Given the description of an element on the screen output the (x, y) to click on. 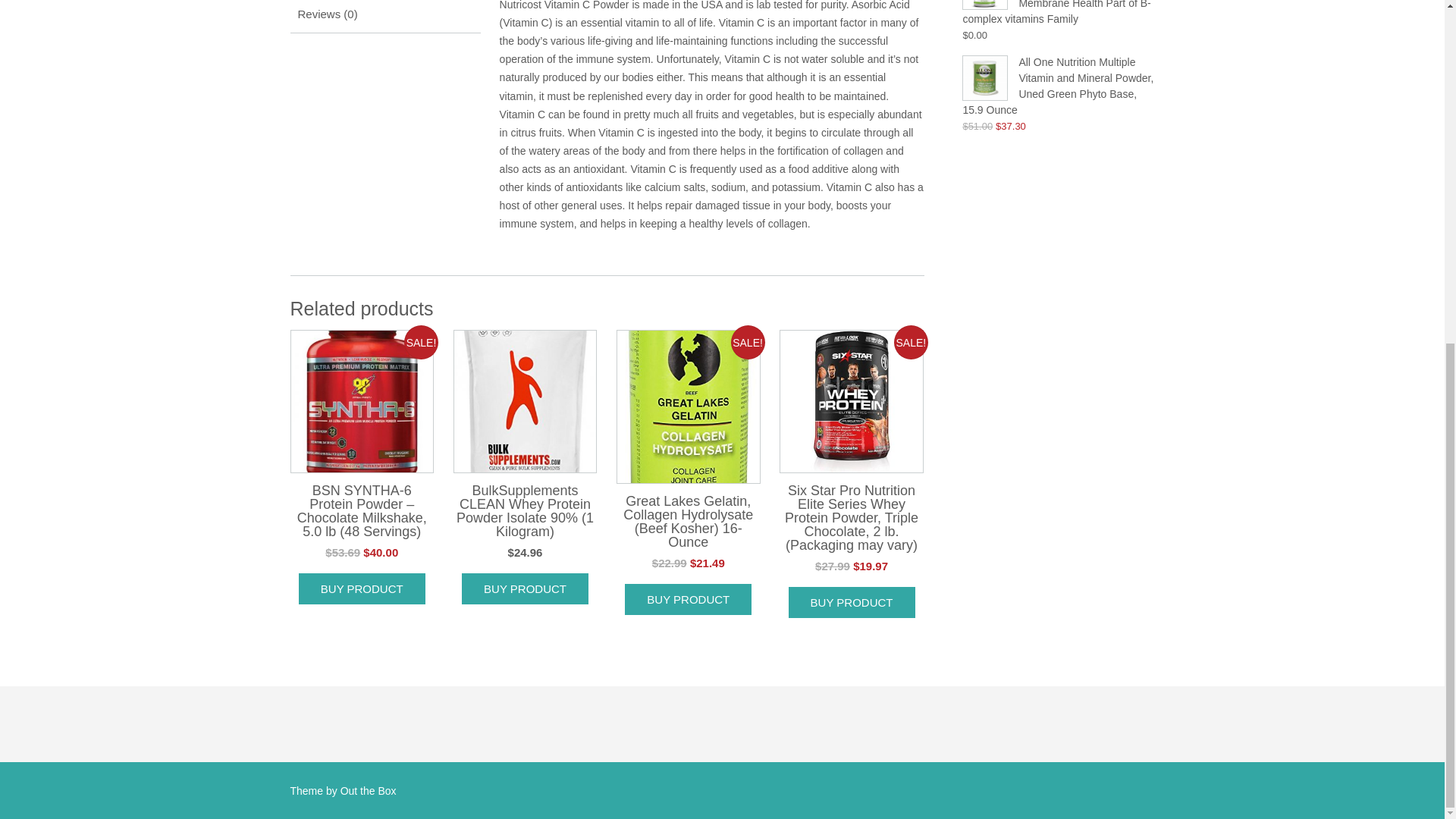
BUY PRODUCT (852, 602)
BUY PRODUCT (524, 588)
BUY PRODUCT (687, 599)
BUY PRODUCT (361, 588)
